Given the description of an element on the screen output the (x, y) to click on. 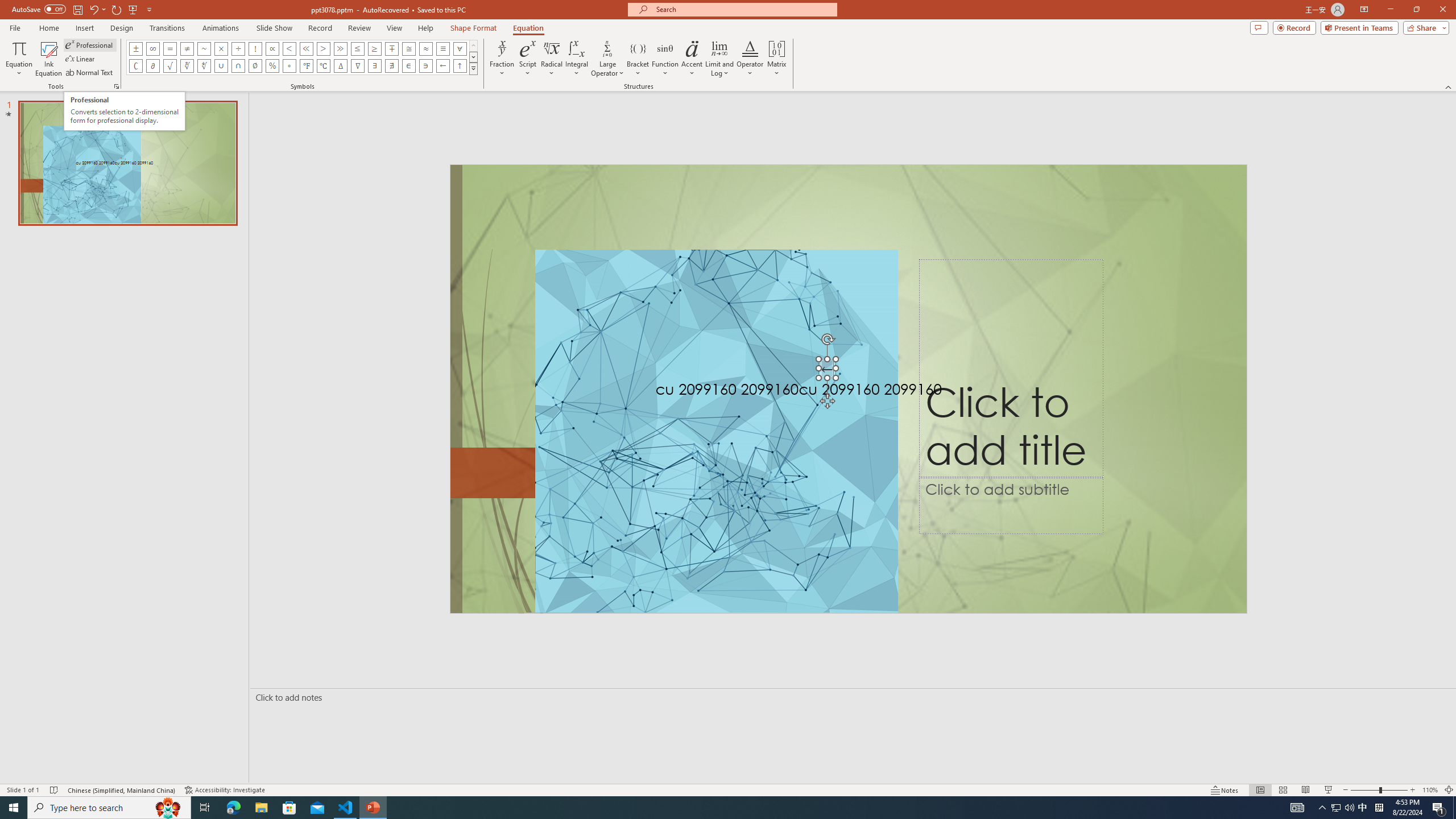
Equation Symbol Radical Sign (170, 65)
AutomationID: EquationSymbolsInsertGallery (302, 57)
Equation Symbol Not Equal To (187, 48)
Normal Text (90, 72)
Equation Symbol Intersection (238, 65)
Equation Symbol Proportional To (272, 48)
Equation Symbol Factorial (255, 48)
Fraction (502, 58)
Equation Symbol Much Less Than (306, 48)
Equation Symbol Union (221, 65)
